Given the description of an element on the screen output the (x, y) to click on. 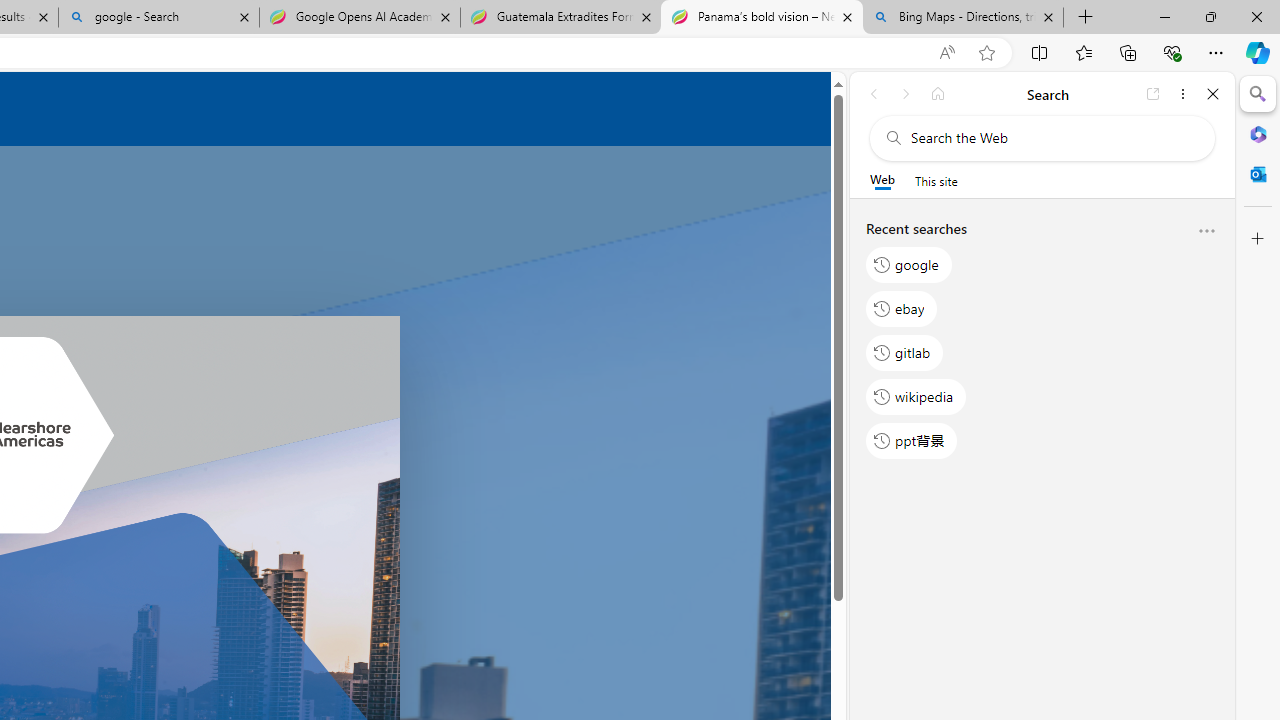
New Tab (1085, 17)
Microsoft 365 (1258, 133)
Search the web (1051, 137)
Copilot (Ctrl+Shift+.) (1258, 52)
google (909, 264)
Forward (906, 93)
Browser essentials (1171, 52)
Restore (1210, 16)
Collections (1128, 52)
Back (874, 93)
google - Search (158, 17)
Add this page to favorites (Ctrl+D) (986, 53)
ebay (902, 308)
Favorites (1083, 52)
